Given the description of an element on the screen output the (x, y) to click on. 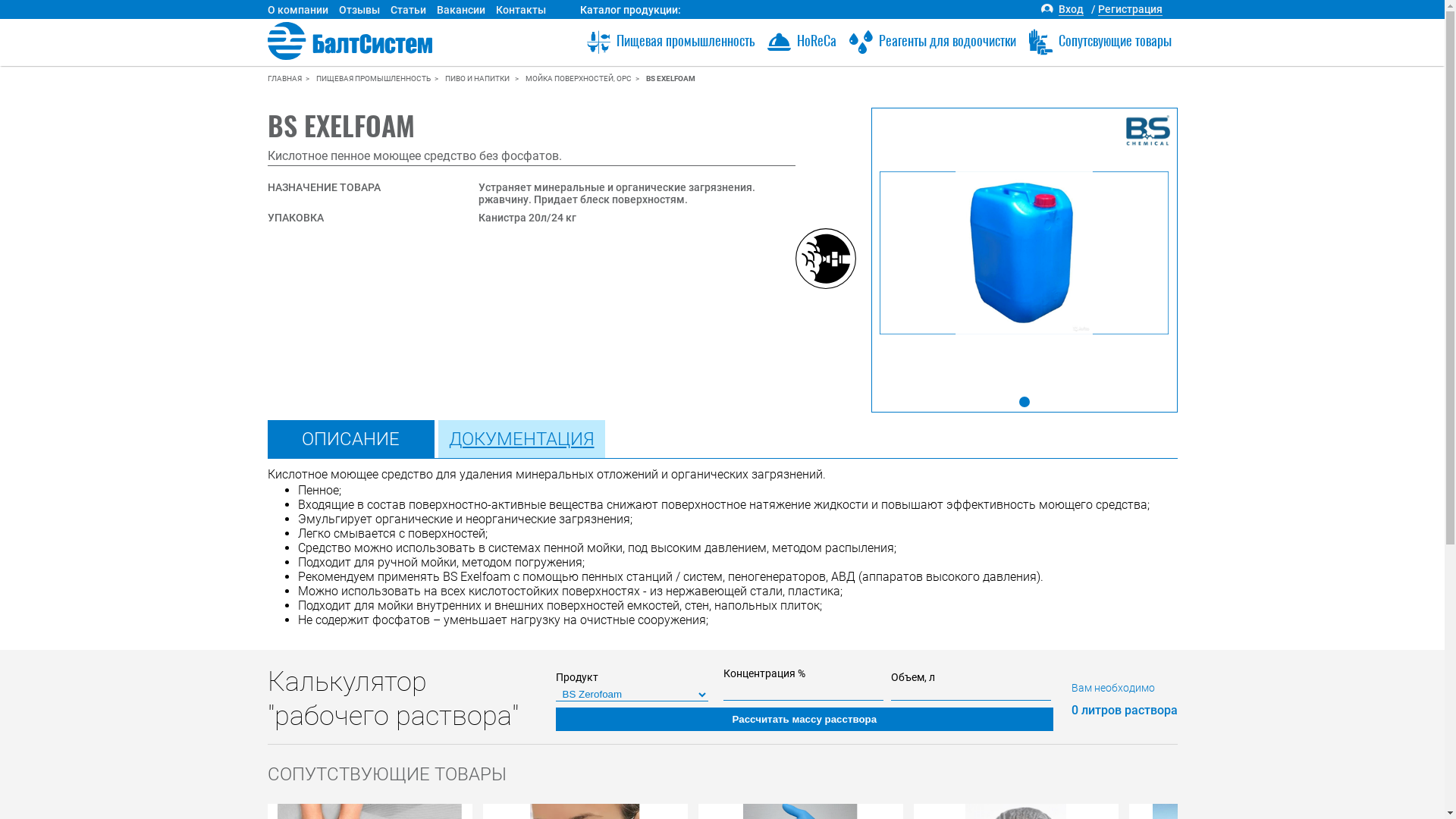
HoReCa Element type: text (800, 40)
BS EXELFOAM Element type: text (670, 78)
